Given the description of an element on the screen output the (x, y) to click on. 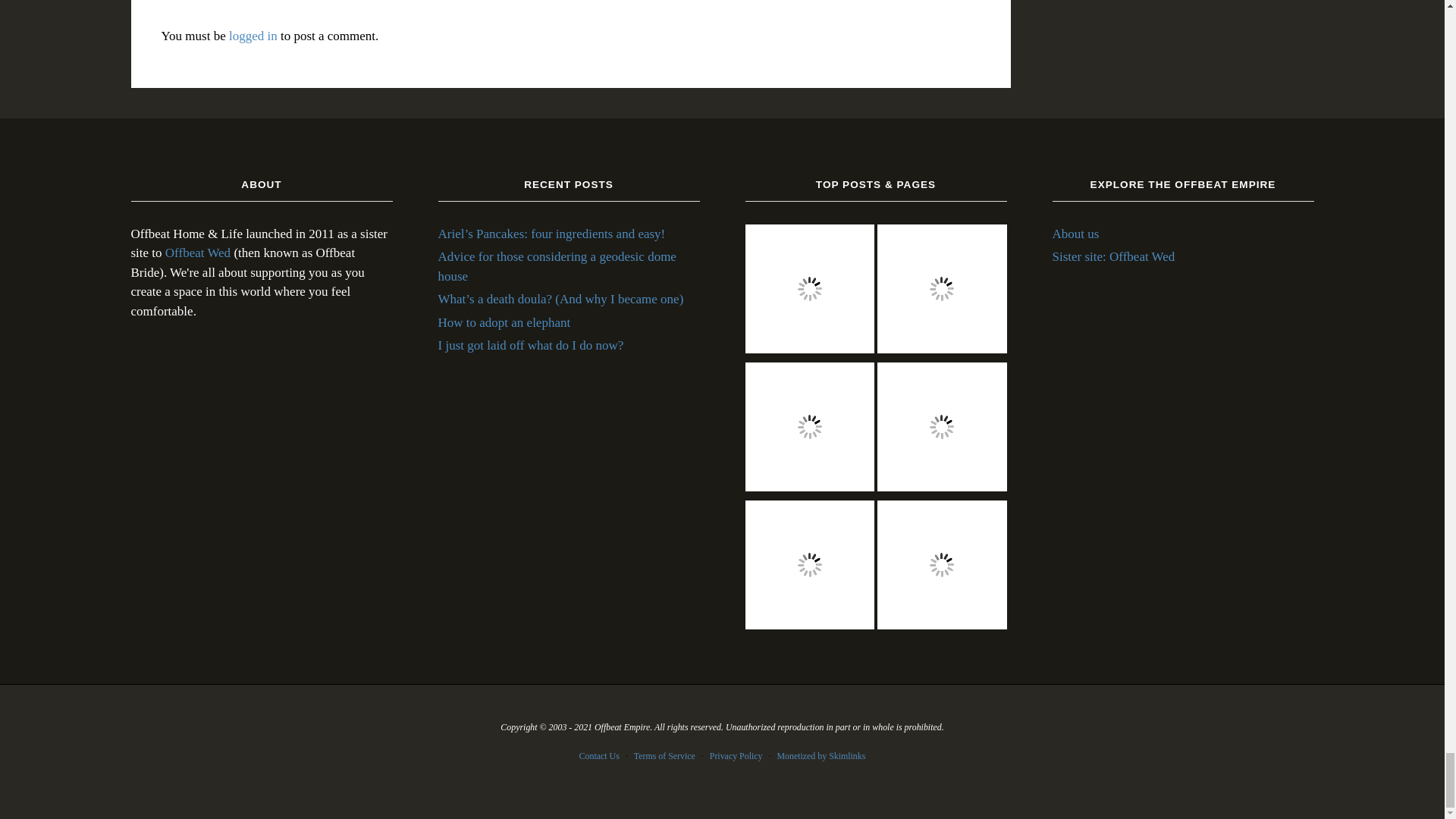
How to decorate and de-boring an above-ground pool (809, 429)
Family nudity: my sons see me nude at home (809, 291)
DIYing a vertical pumpkin patch in our tiny urban backyard (942, 291)
The Incident: my son was bullied for having gay parents (942, 429)
7 tips for how to grow gargantuan basil plants (809, 567)
7 ways smoking weed can make you a better parent (942, 567)
